Given the description of an element on the screen output the (x, y) to click on. 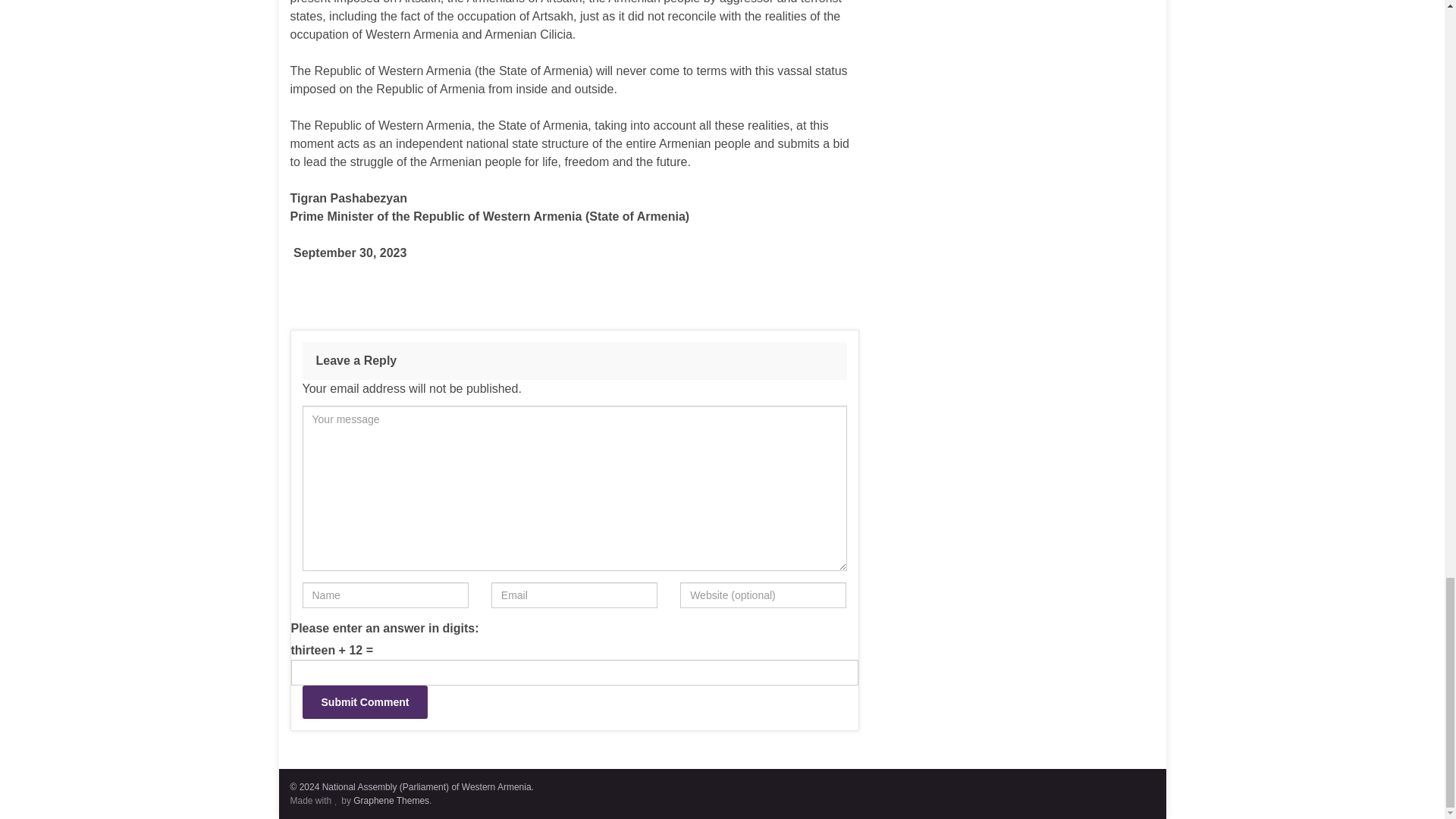
Submit Comment (364, 702)
